Given the description of an element on the screen output the (x, y) to click on. 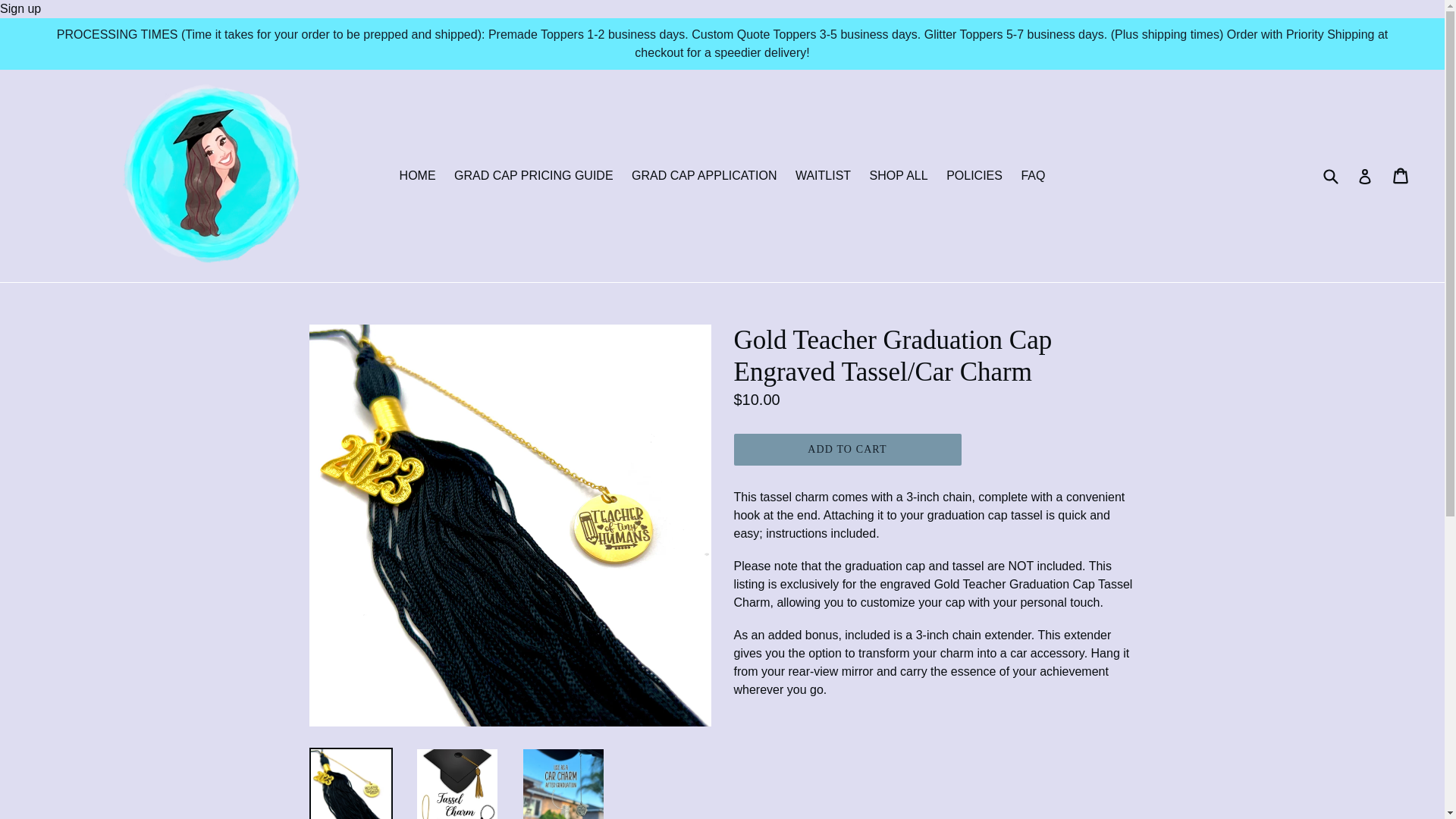
Sign up (20, 8)
WAITLIST (823, 175)
SHOP ALL (898, 175)
POLICIES (974, 175)
FAQ (1032, 175)
GRAD CAP PRICING GUIDE (533, 175)
HOME (417, 175)
GRAD CAP APPLICATION (704, 175)
ADD TO CART (846, 450)
